Given the description of an element on the screen output the (x, y) to click on. 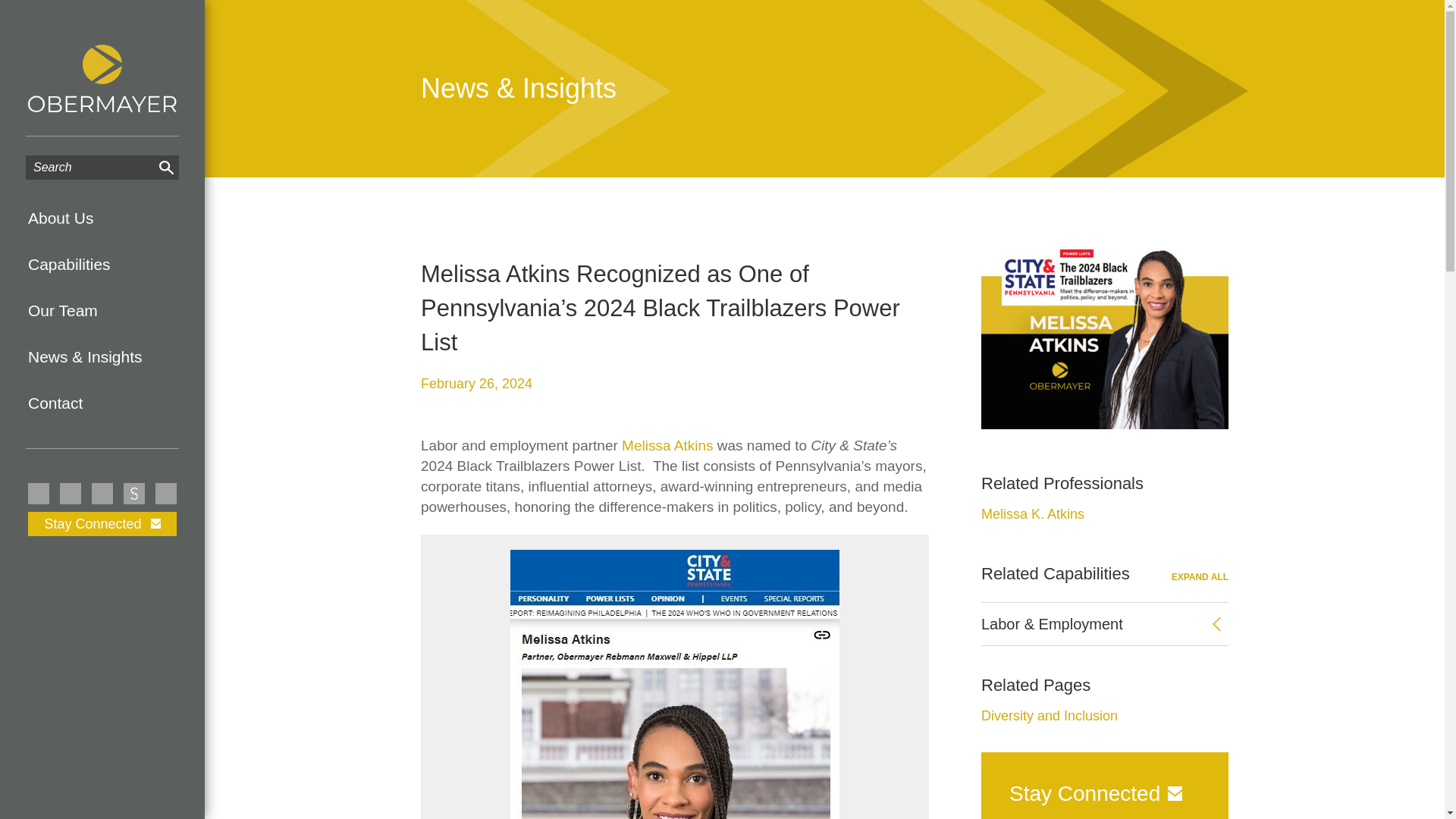
About Us (102, 217)
Capabilities (102, 264)
